Given the description of an element on the screen output the (x, y) to click on. 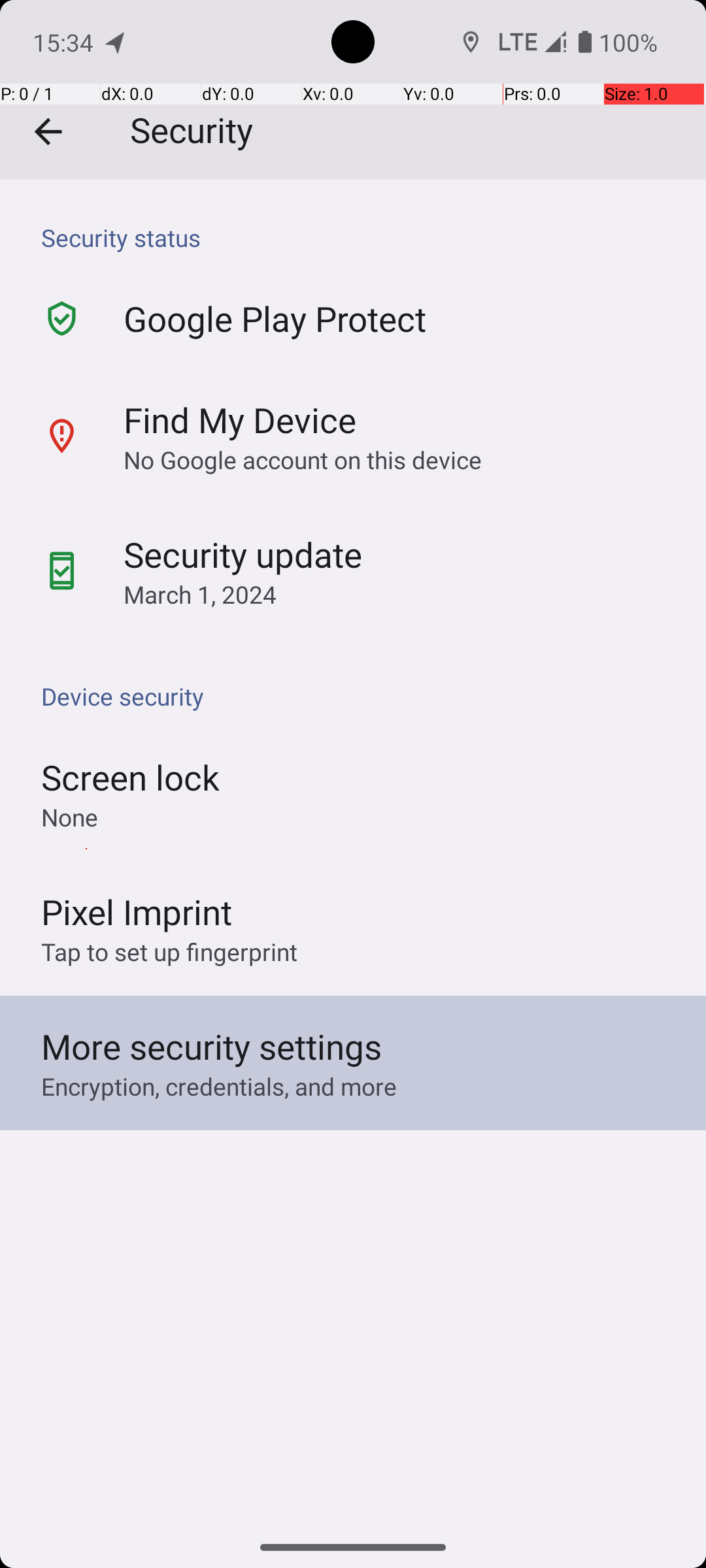
Security Element type: android.widget.FrameLayout (353, 89)
Security status Element type: android.widget.TextView (359, 237)
Google Play Protect Element type: android.widget.TextView (274, 318)
Find My Device Element type: android.widget.TextView (239, 419)
No Google account on this device Element type: android.widget.TextView (302, 459)
Security update Element type: android.widget.TextView (242, 554)
March 1, 2024 Element type: android.widget.TextView (199, 593)
Device security Element type: android.widget.TextView (359, 695)
Screen lock Element type: android.widget.TextView (130, 776)
Pixel Imprint Element type: android.widget.TextView (136, 911)
Tap to set up fingerprint Element type: android.widget.TextView (169, 951)
More security settings Element type: android.widget.TextView (211, 1046)
Encryption, credentials, and more Element type: android.widget.TextView (218, 1085)
